Given the description of an element on the screen output the (x, y) to click on. 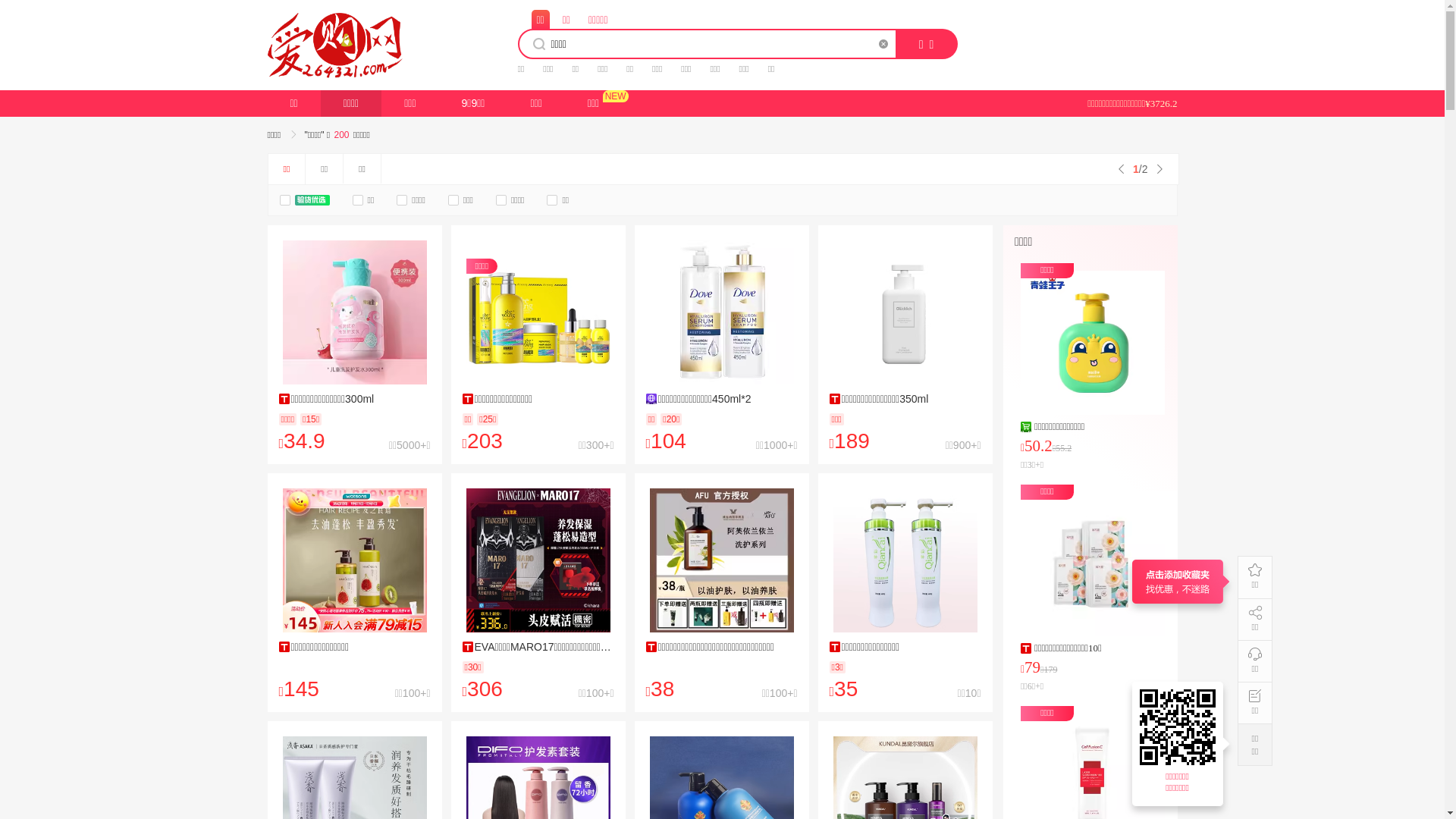
https://264321.com Element type: hover (1179, 727)
